Given the description of an element on the screen output the (x, y) to click on. 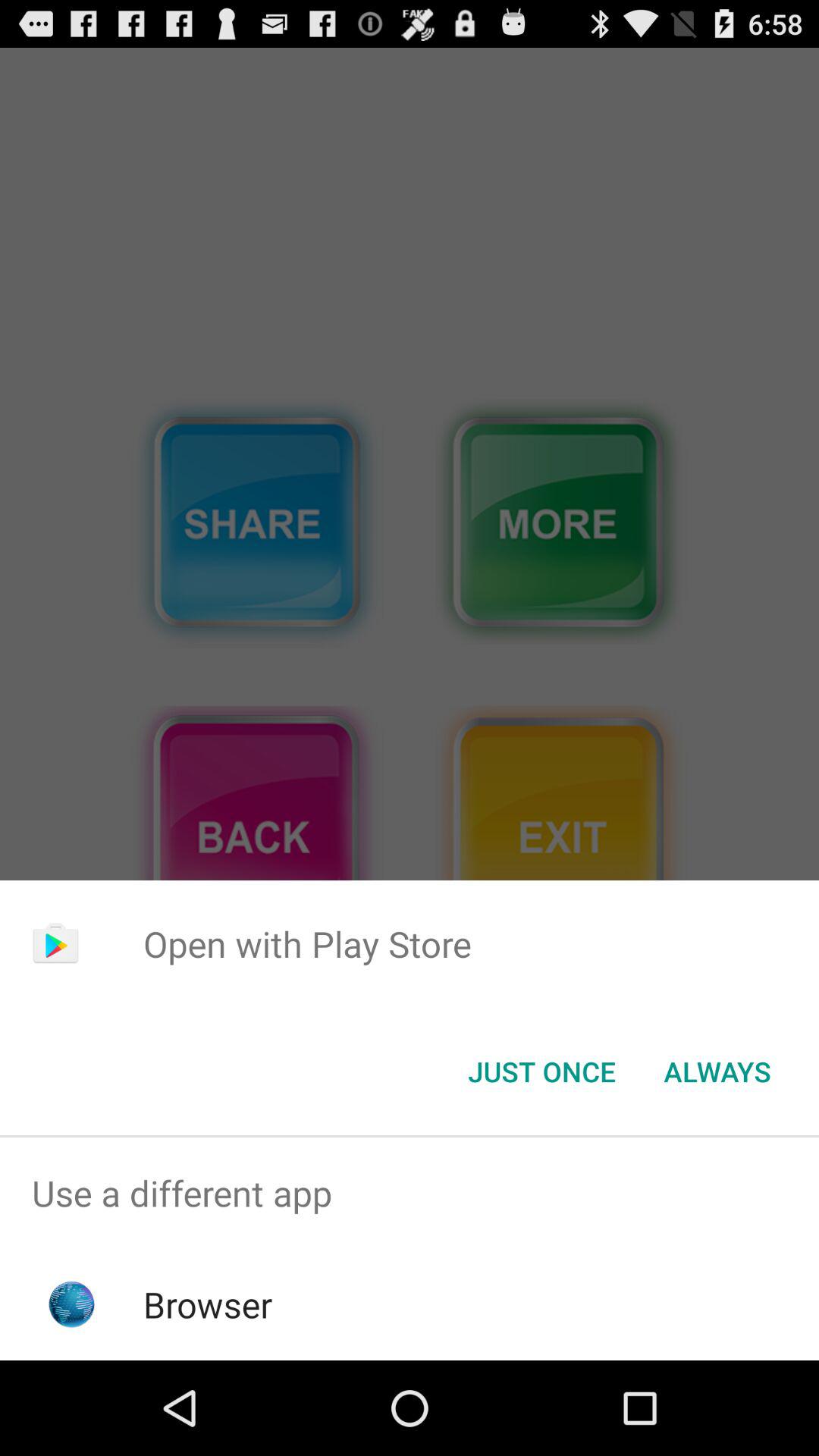
launch always item (717, 1071)
